Given the description of an element on the screen output the (x, y) to click on. 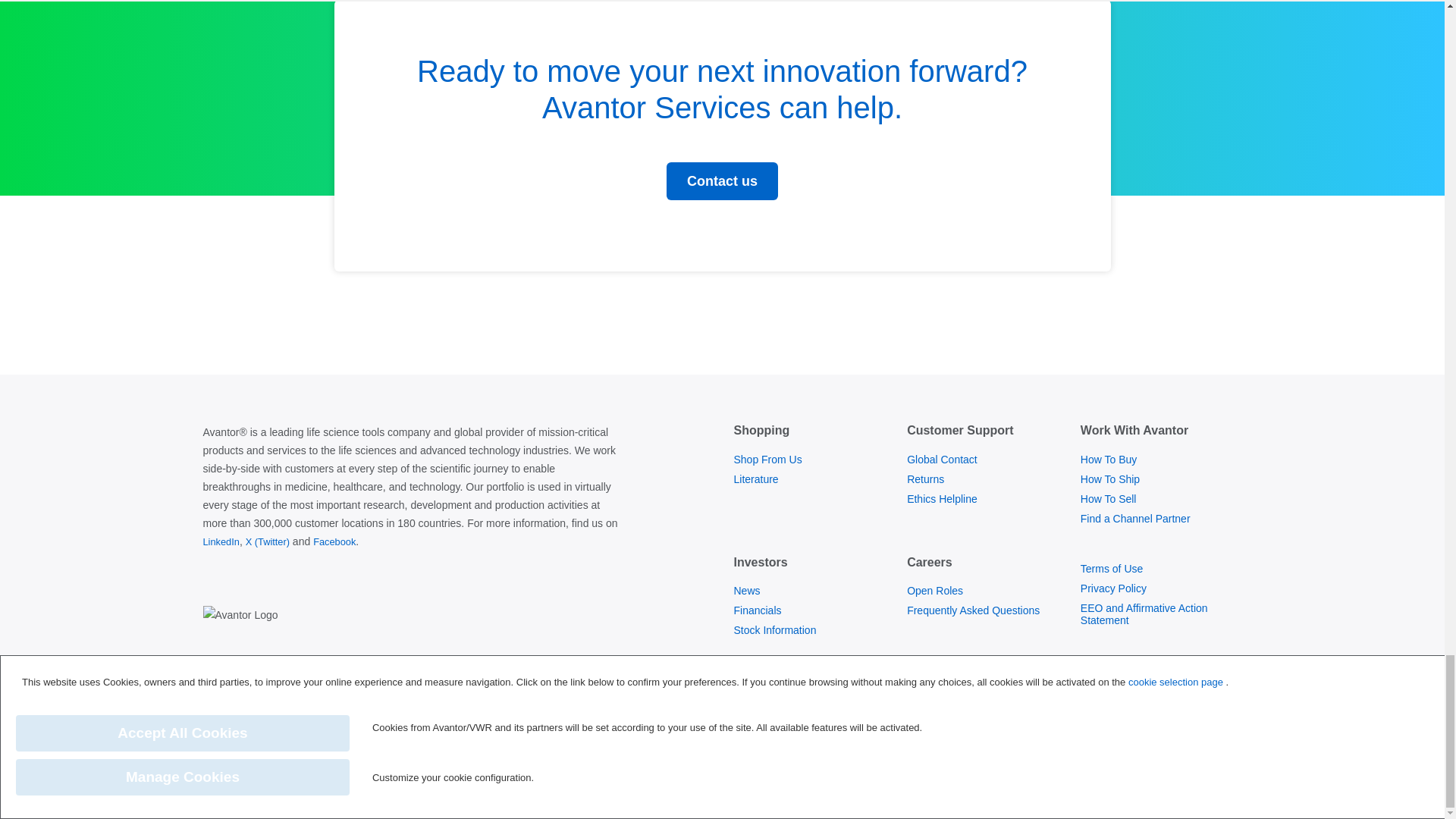
Returns (925, 478)
Literature (755, 478)
Find a Channel Partner (1135, 518)
Contact us (721, 180)
Facebook (334, 541)
LinkedIn (221, 541)
Shop From Us (767, 459)
News (746, 590)
Ethics Helpline (941, 498)
How To Sell (1108, 498)
